Given the description of an element on the screen output the (x, y) to click on. 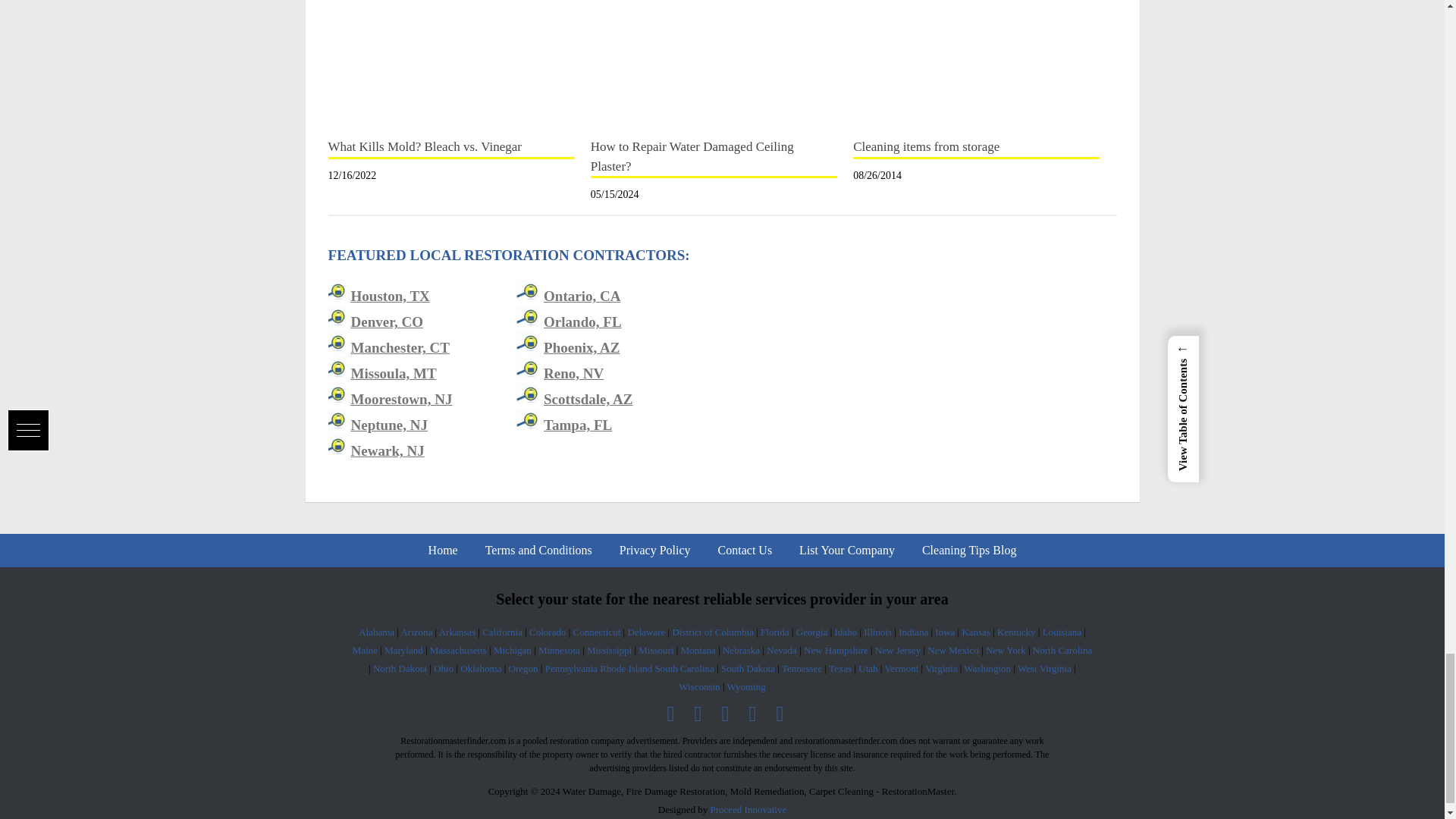
Water Damage and Flood Cleanup - Denver, CO (386, 321)
Water Damage and Flood Cleanup - Newark, NJ (386, 450)
Water Damage and Flood Cleanup - Manchester, CT (399, 347)
Water Damage and Flood Cleanup - Ontario, CA (582, 295)
Water Damage and Flood Cleanup - Houston, TX (389, 295)
Water Damage and Flood Cleanup - Moorestown, NJ (400, 399)
Water Damage and Flood Cleanup - Neptune, NJ (389, 424)
